Given the description of an element on the screen output the (x, y) to click on. 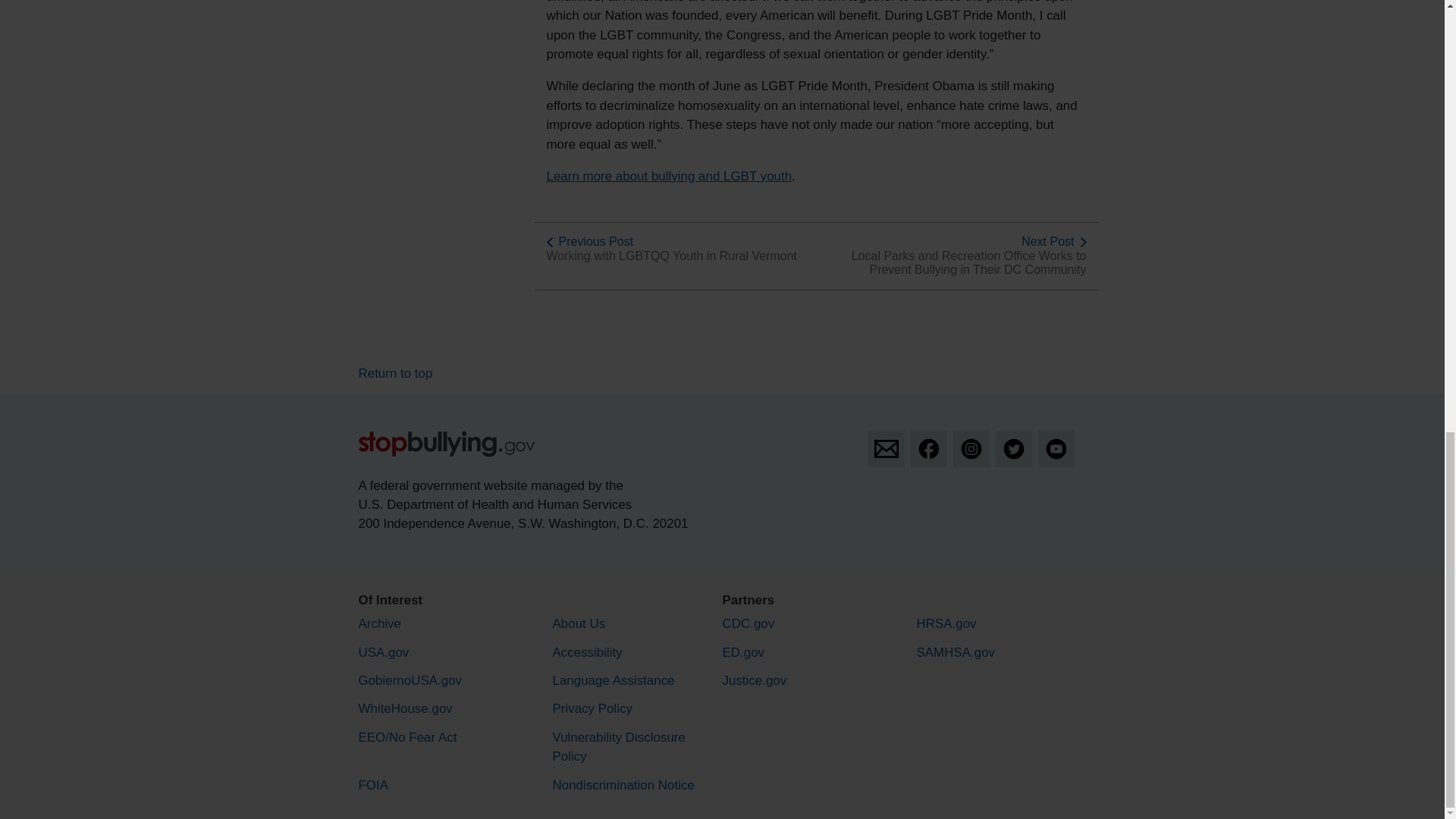
Working with LGBTQQ Youth in Rural Vermont (671, 255)
Learn more about bullying and LGBT youth (669, 175)
Previous Post (595, 241)
